Given the description of an element on the screen output the (x, y) to click on. 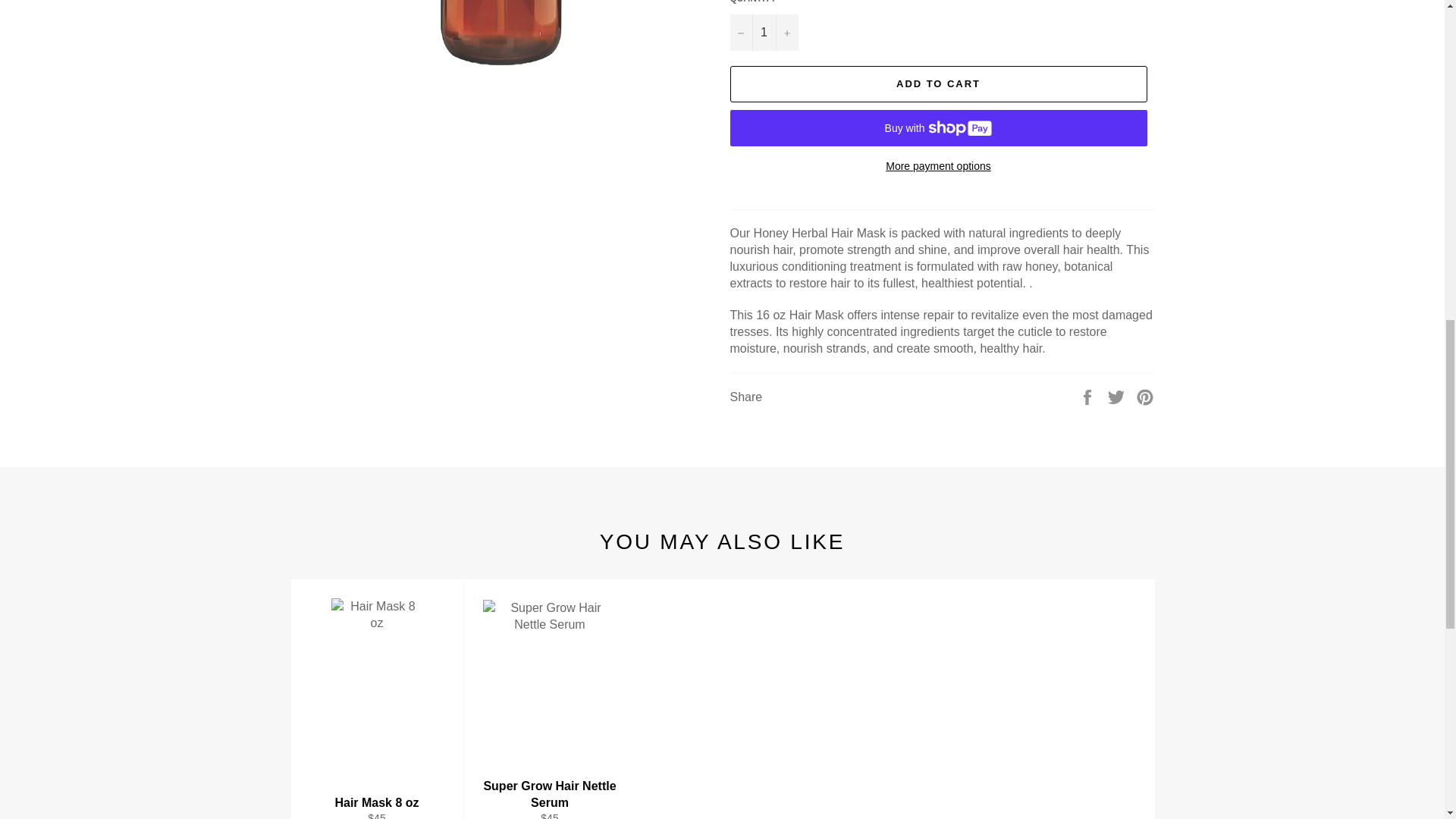
More payment options (938, 166)
Tweet on Twitter (1117, 395)
ADD TO CART (938, 84)
Pin on Pinterest (1144, 395)
1 (763, 32)
Tweet on Twitter (1117, 395)
Pin on Pinterest (1144, 395)
Share on Facebook (1088, 395)
Share on Facebook (1088, 395)
